Given the description of an element on the screen output the (x, y) to click on. 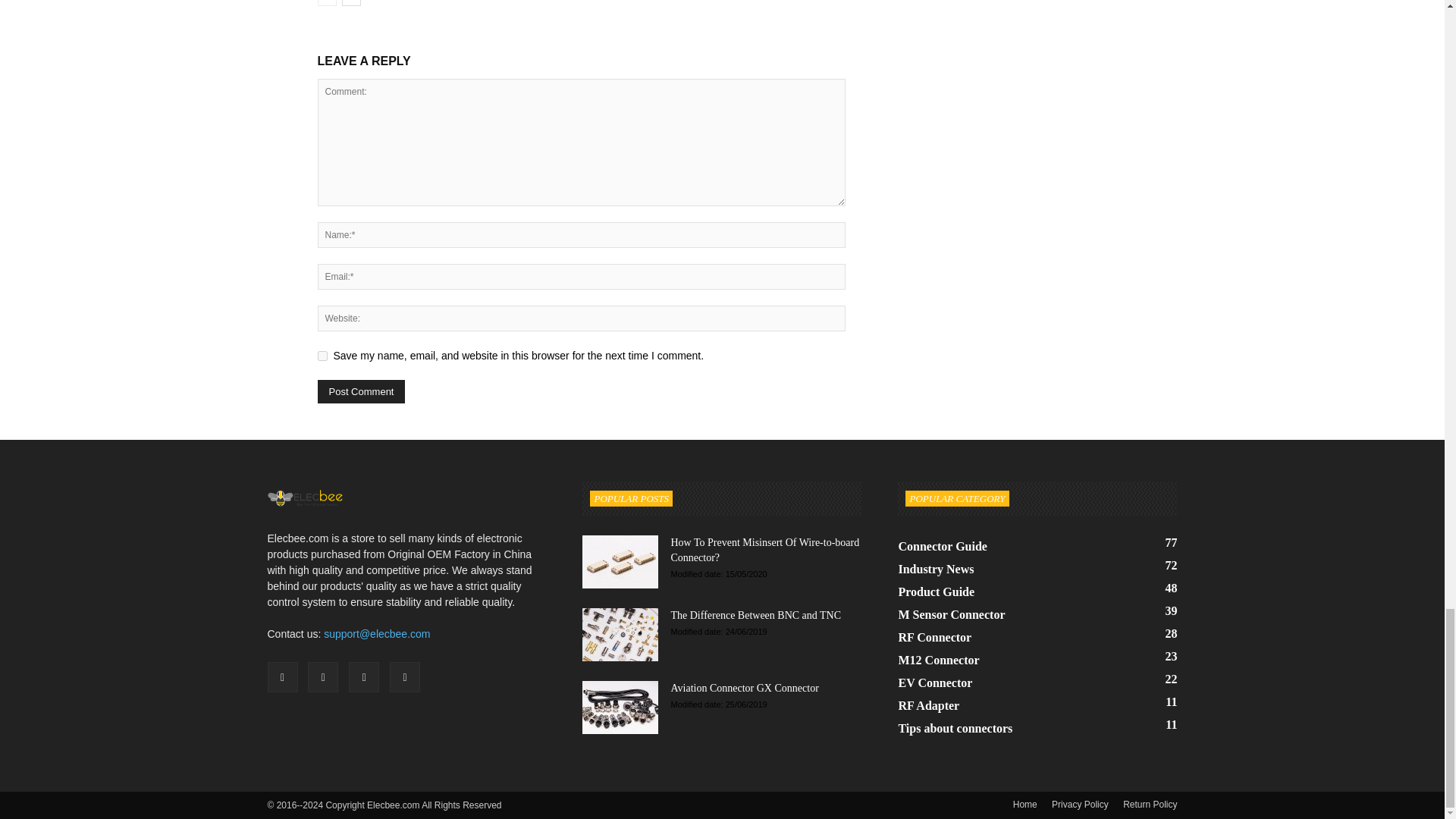
Post Comment (360, 391)
yes (321, 356)
